Given the description of an element on the screen output the (x, y) to click on. 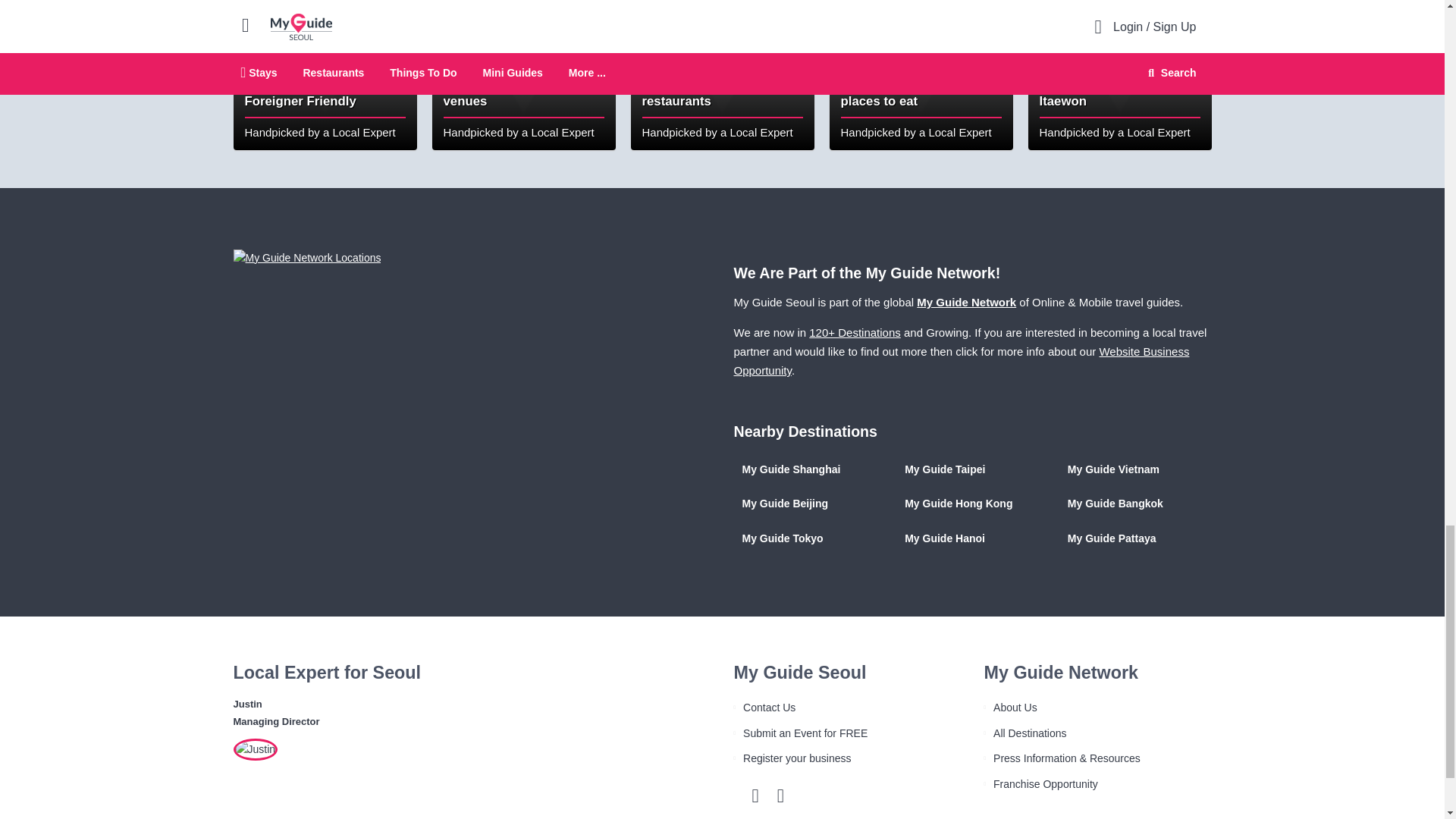
Must do foreign restaurants (721, 74)
Weird and Wonderful places to eat (921, 74)
Foreigner Friendly (324, 74)
5 Best big shopping venues (523, 74)
